Given the description of an element on the screen output the (x, y) to click on. 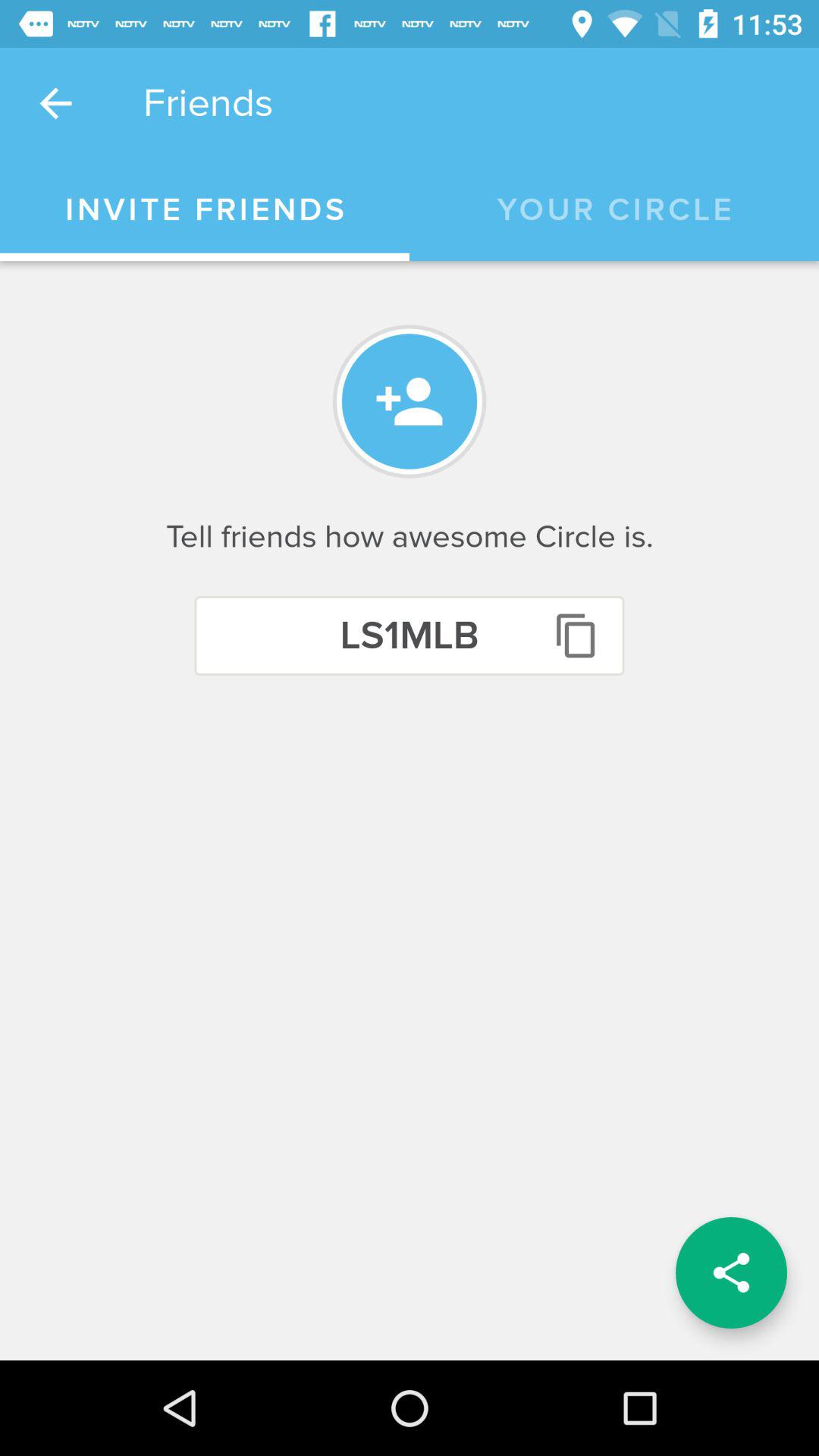
tap your circle icon (614, 210)
